Given the description of an element on the screen output the (x, y) to click on. 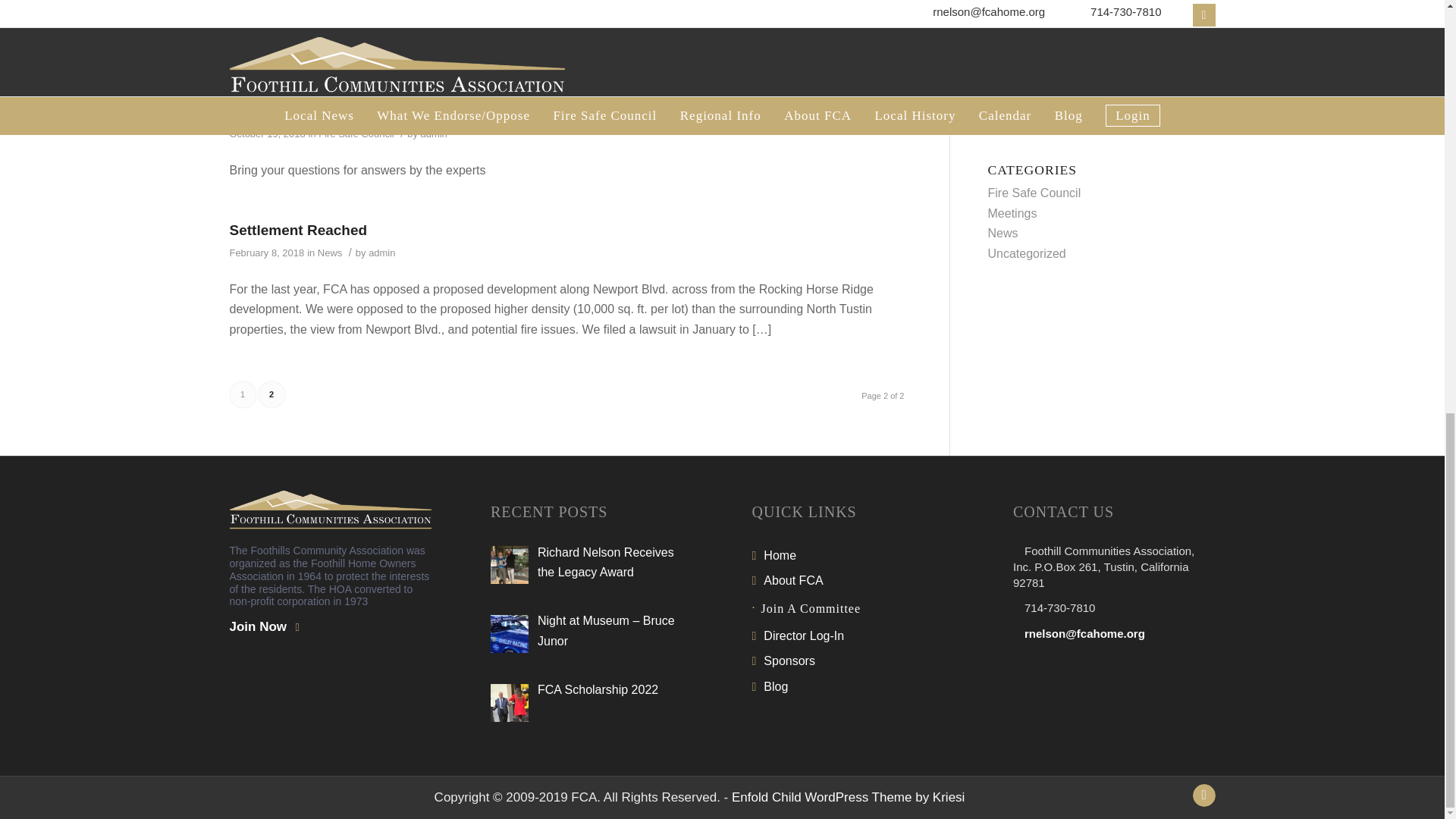
Posts by admin (432, 55)
Posts by admin (433, 133)
Permanent Link: Settlement Reached (297, 229)
Facebook (1203, 794)
Posts by admin (381, 252)
